Given the description of an element on the screen output the (x, y) to click on. 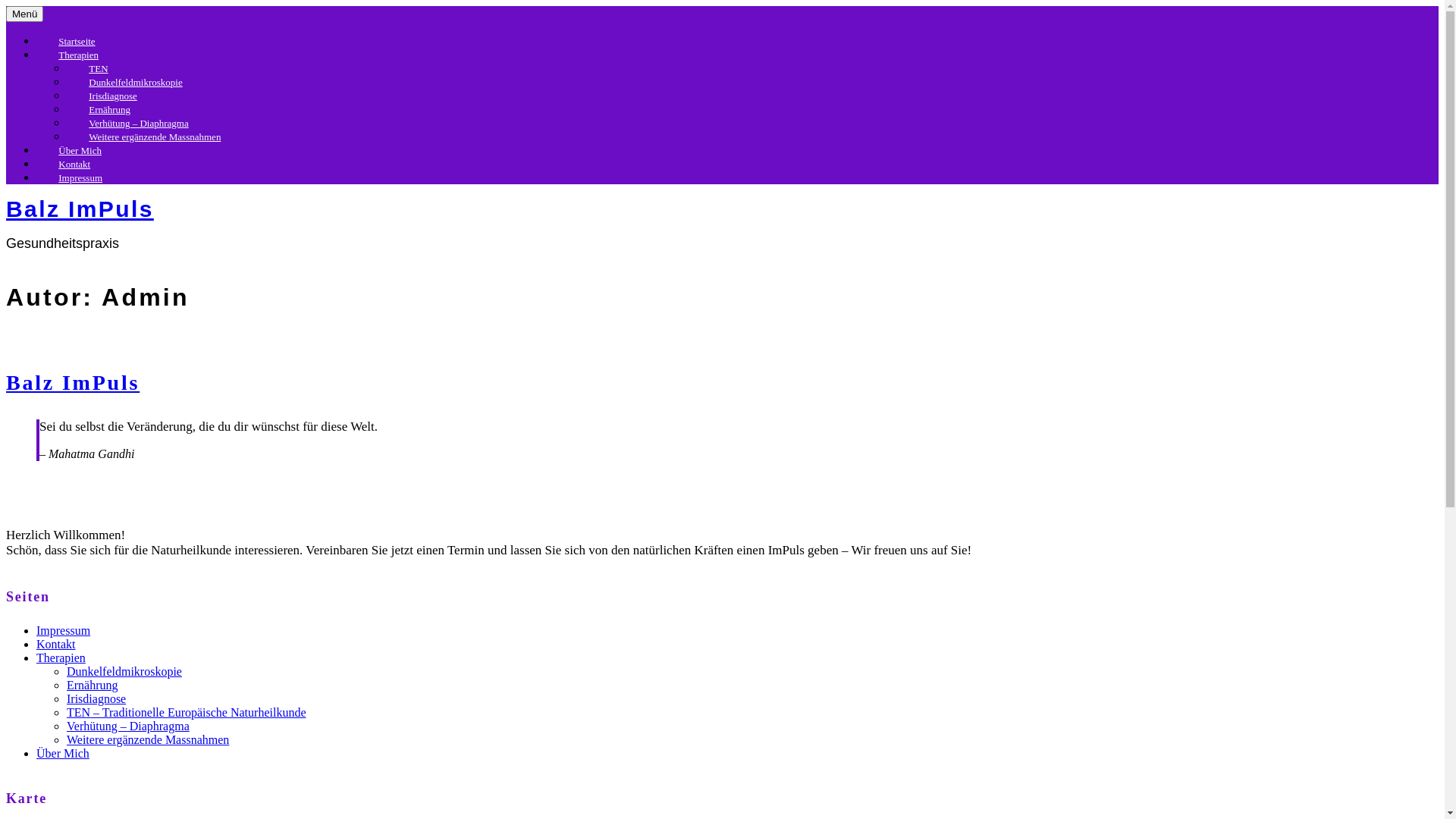
Irisdiagnose Element type: text (95, 698)
Impressum Element type: text (63, 630)
TEN Element type: text (98, 68)
Dunkelfeldmikroskopie Element type: text (124, 671)
Therapien Element type: text (60, 657)
Dunkelfeldmikroskopie Element type: text (135, 81)
Kontakt Element type: text (74, 163)
Impressum Element type: text (80, 177)
Kontakt Element type: text (55, 643)
Startseite Element type: text (76, 40)
Balz ImPuls Element type: text (72, 382)
Balz ImPuls Element type: text (79, 208)
Irisdiagnose Element type: text (112, 95)
Zum Inhalt springen Element type: text (5, 5)
Therapien Element type: text (78, 54)
